Given the description of an element on the screen output the (x, y) to click on. 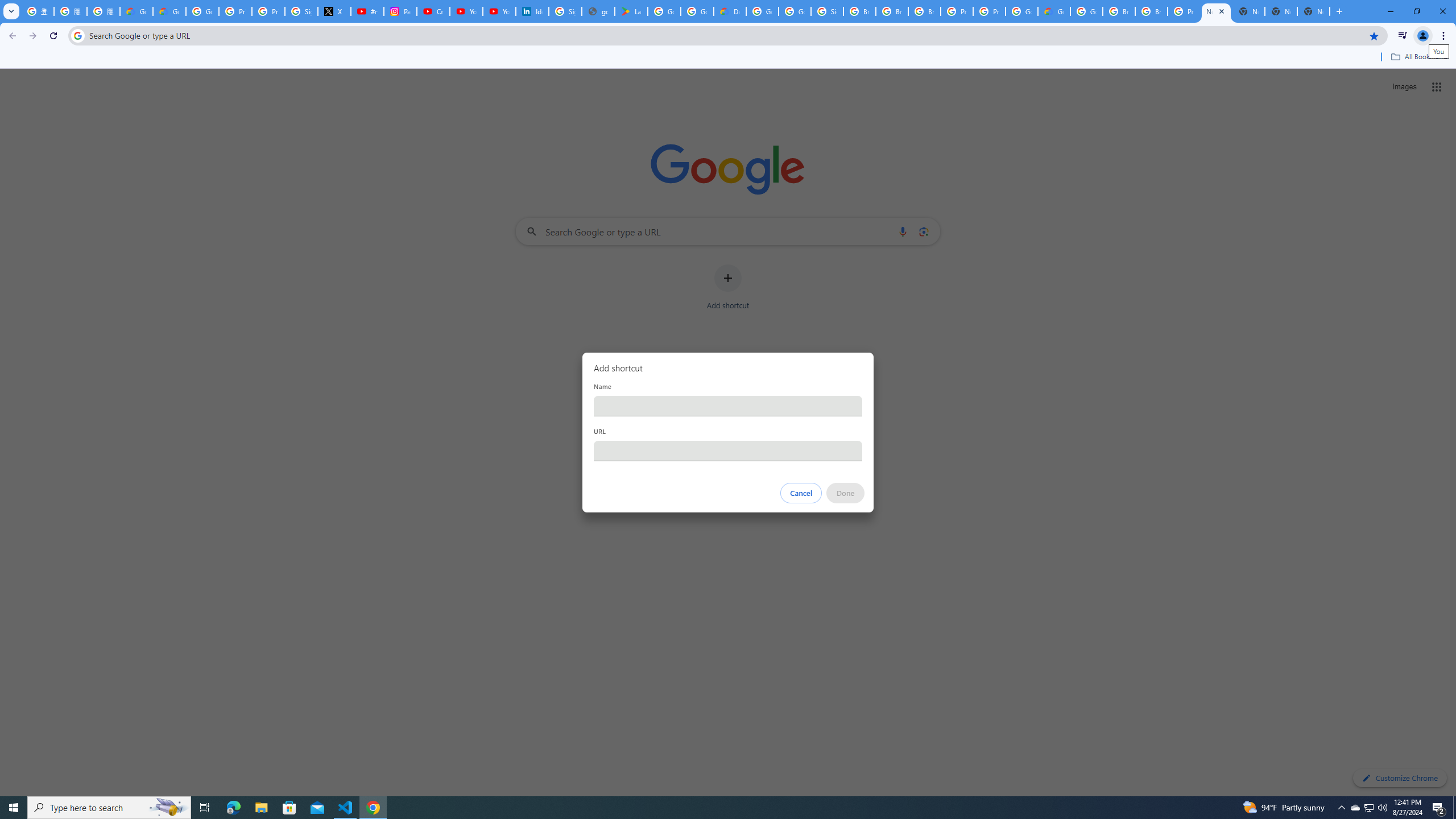
URL (727, 450)
#nbabasketballhighlights - YouTube (367, 11)
YouTube Culture & Trends - YouTube Top 10, 2021 (499, 11)
